Given the description of an element on the screen output the (x, y) to click on. 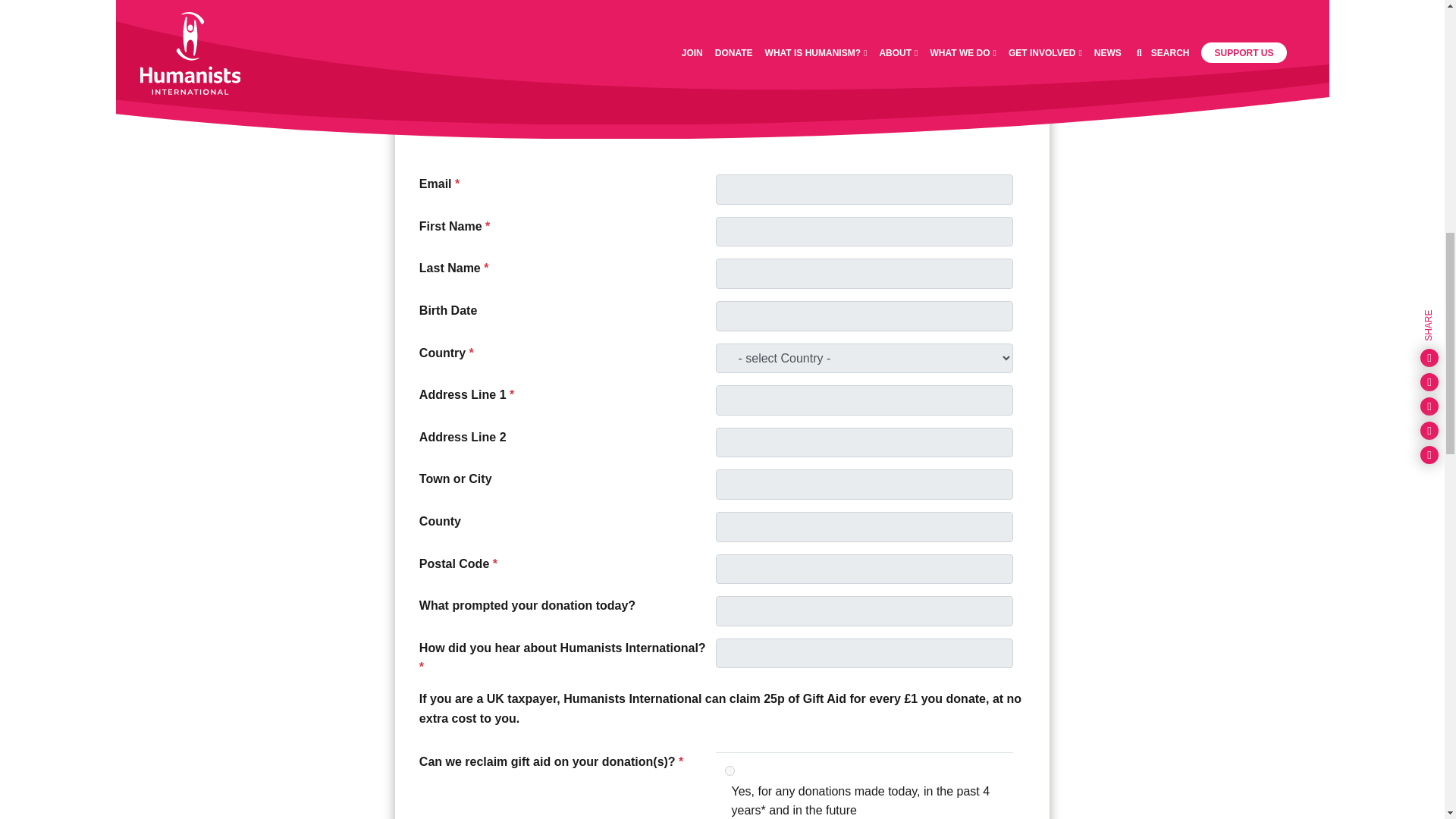
3 (730, 770)
56 (720, 16)
0 (720, 67)
57 (720, 40)
